Given the description of an element on the screen output the (x, y) to click on. 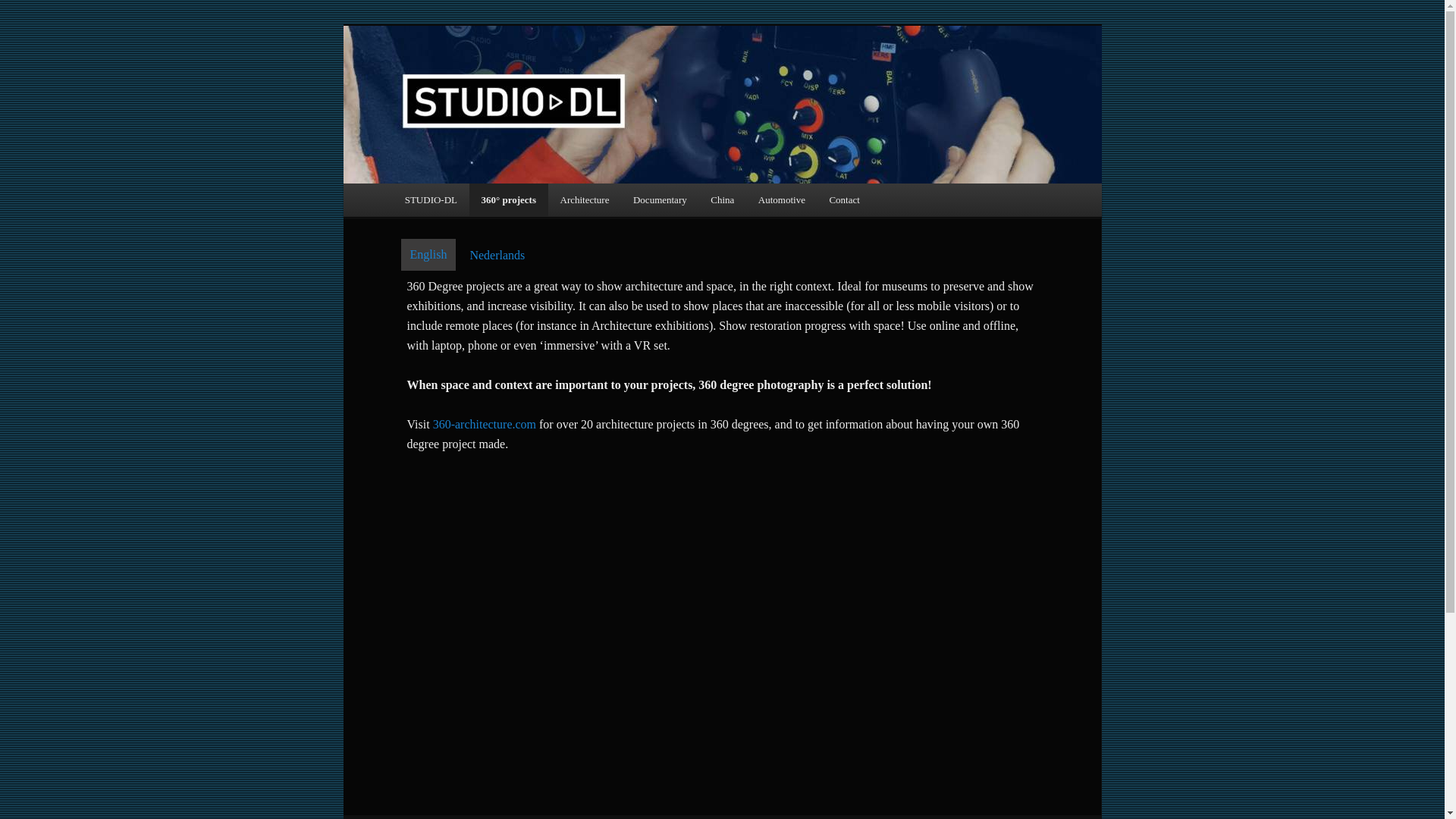
Automotive (780, 199)
English (427, 255)
STUDIO-DL (430, 199)
Documentary (659, 199)
360-architecture.com (483, 423)
Architecture (584, 199)
Contact (844, 199)
Nederlands (497, 255)
China (721, 199)
